Given the description of an element on the screen output the (x, y) to click on. 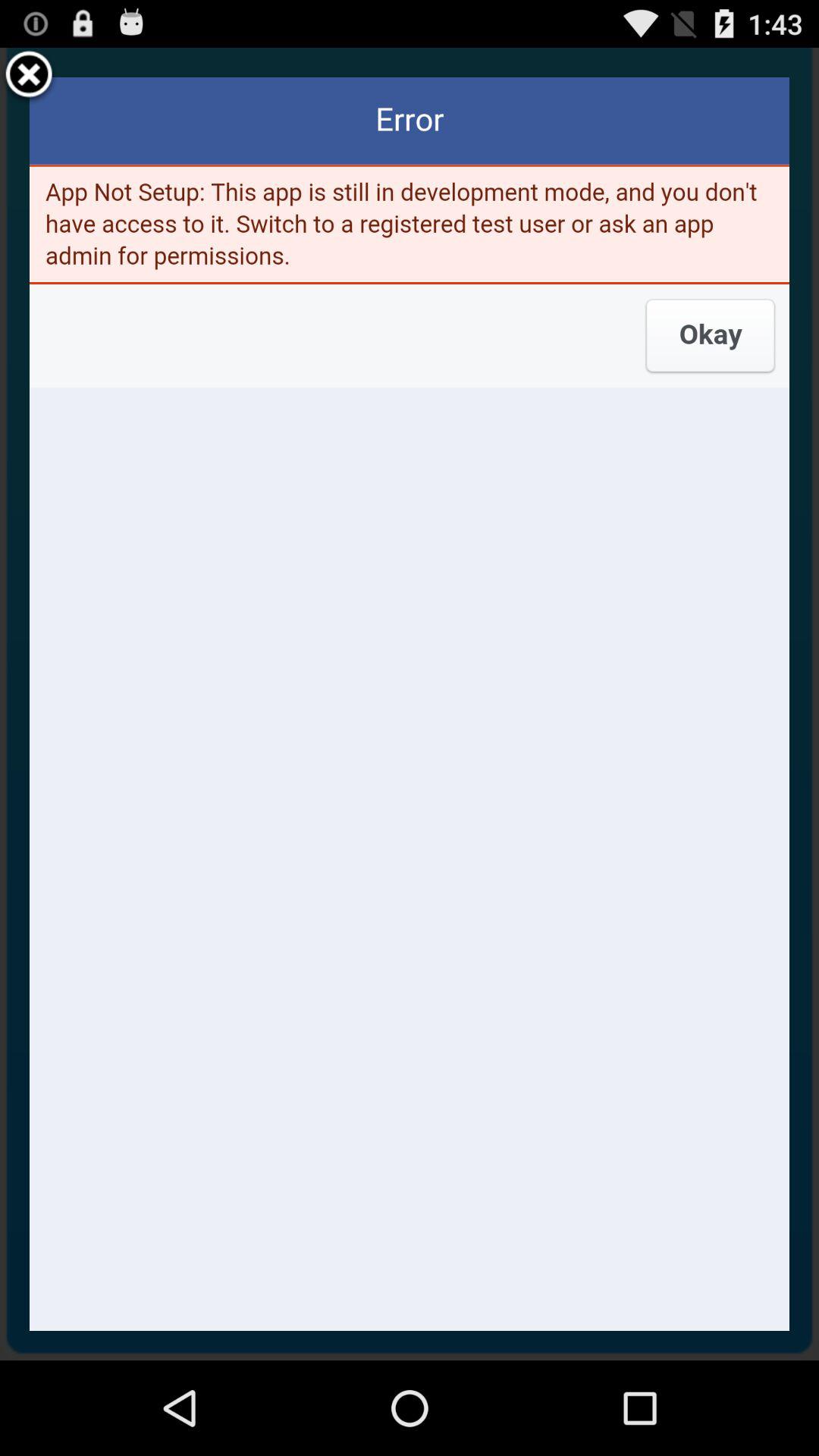
closes the error window (29, 76)
